Given the description of an element on the screen output the (x, y) to click on. 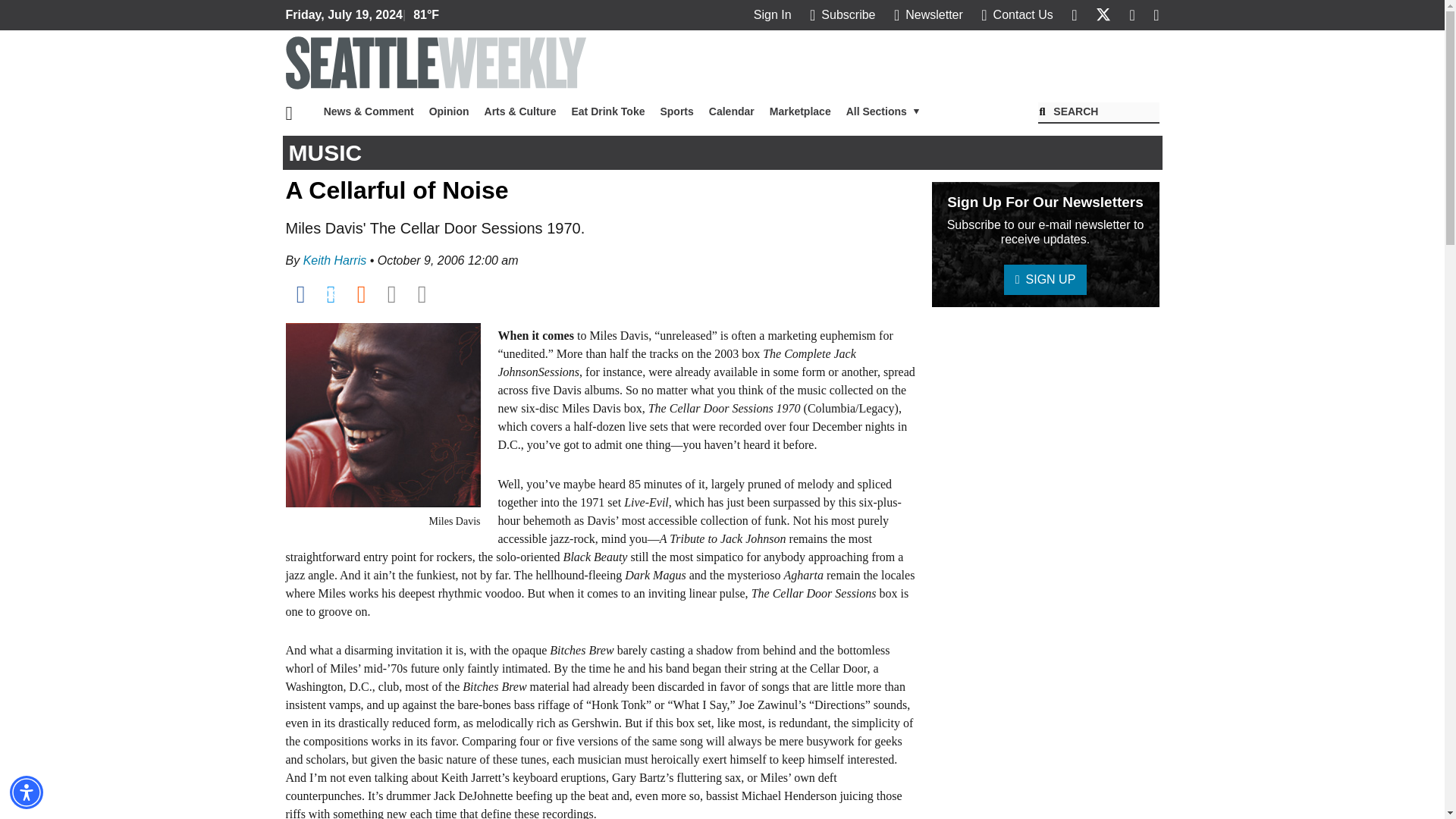
Eat Drink Toke (607, 111)
Email story (390, 293)
Marketplace (799, 111)
Sign In (773, 14)
Post to Facebook (300, 293)
Post to Twitter (330, 293)
Sports (676, 111)
Access Our RSS Feed (1155, 14)
Opinion (449, 111)
Post to Reddit (360, 293)
Subscribe (842, 14)
Find Us On Twitter (1103, 14)
All Sections (883, 111)
Find Us On Instagam (1131, 14)
Search (1097, 112)
